Given the description of an element on the screen output the (x, y) to click on. 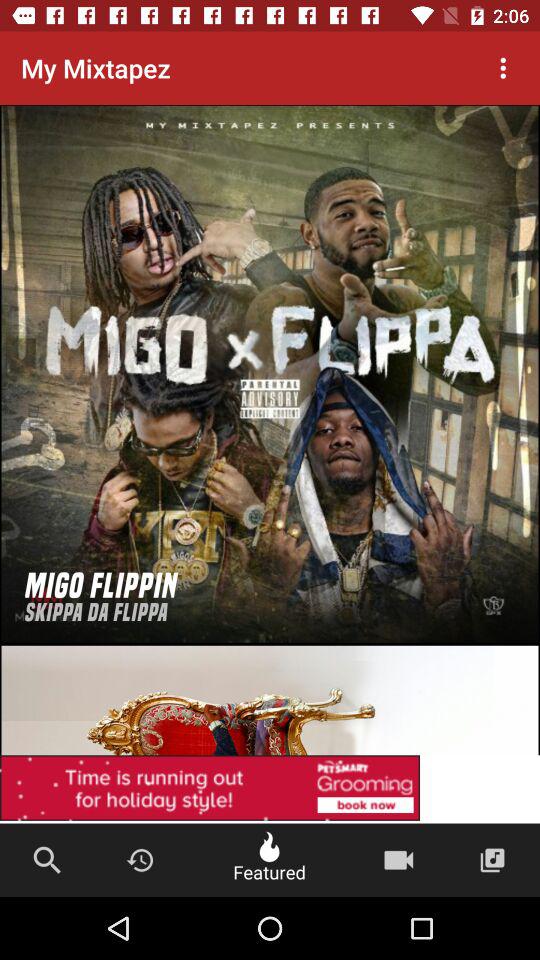
etc (270, 789)
